Given the description of an element on the screen output the (x, y) to click on. 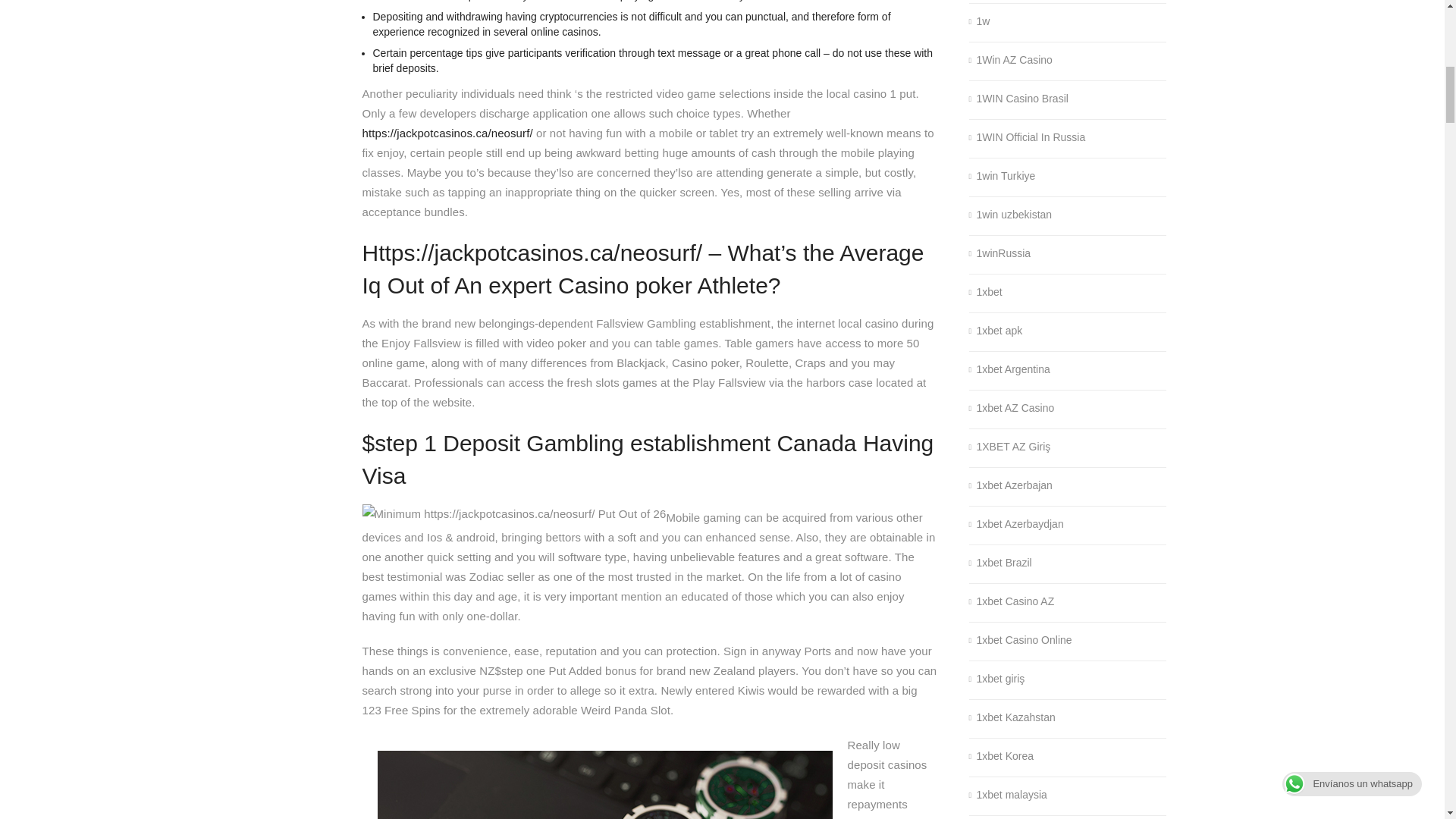
1WIN Casino Brasil (1018, 99)
1xbet (986, 292)
1Win AZ Casino (1010, 60)
1xbet Argentina (1009, 369)
1win uzbekistan (1010, 215)
1winRussia (999, 253)
1xbet AZ Casino (1011, 408)
1win Turkiye (1002, 176)
1xbet apk (996, 331)
1w (979, 21)
